Given the description of an element on the screen output the (x, y) to click on. 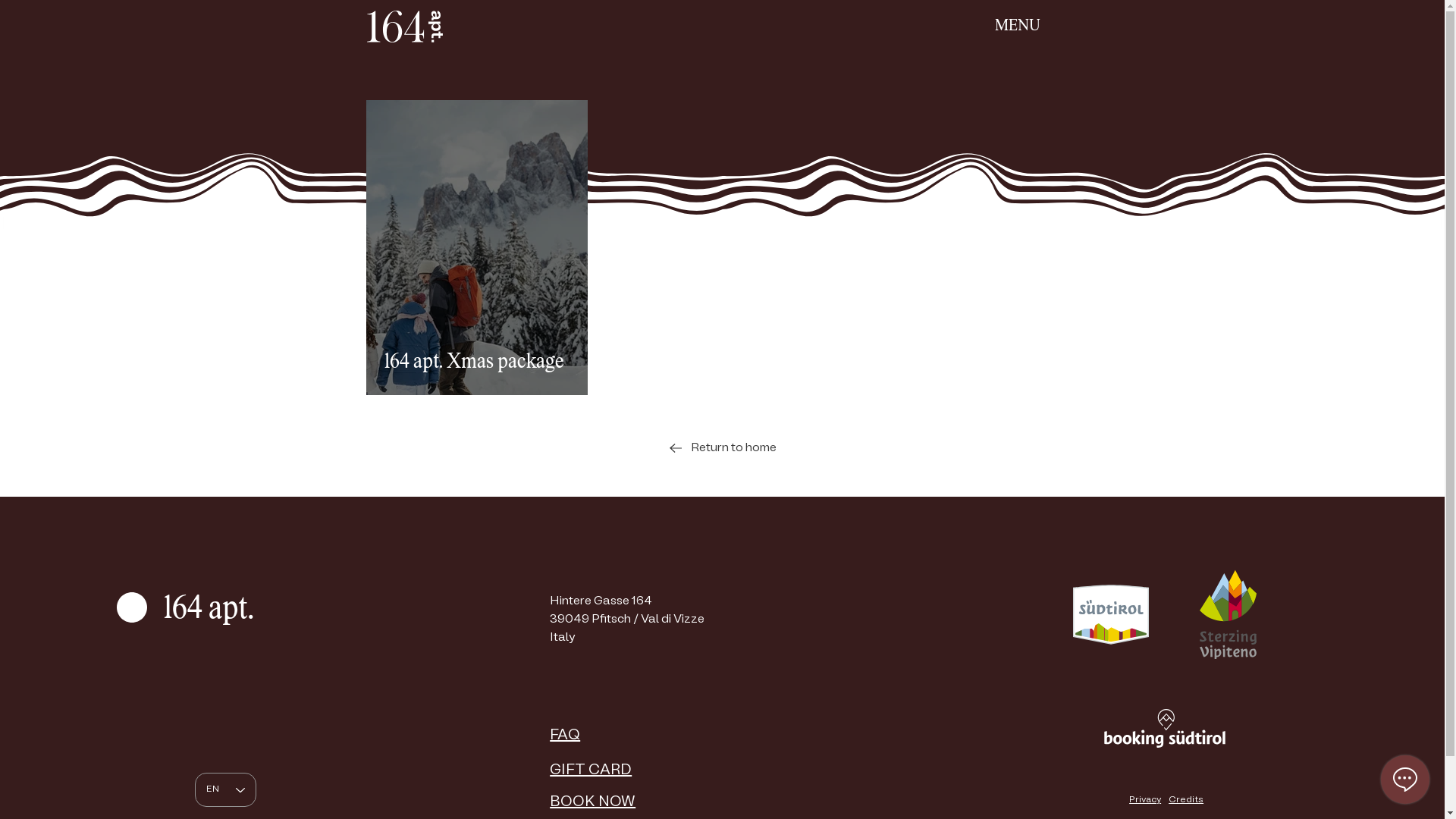
Privacy Element type: text (1145, 799)
BOOK NOW Element type: text (592, 802)
164 apt. Xmas package Element type: text (475, 361)
Return to home Element type: text (721, 448)
Credits Element type: text (1185, 799)
GIFT CARD Element type: text (590, 770)
MENU Element type: text (1017, 25)
FAQ Element type: text (564, 735)
